Given the description of an element on the screen output the (x, y) to click on. 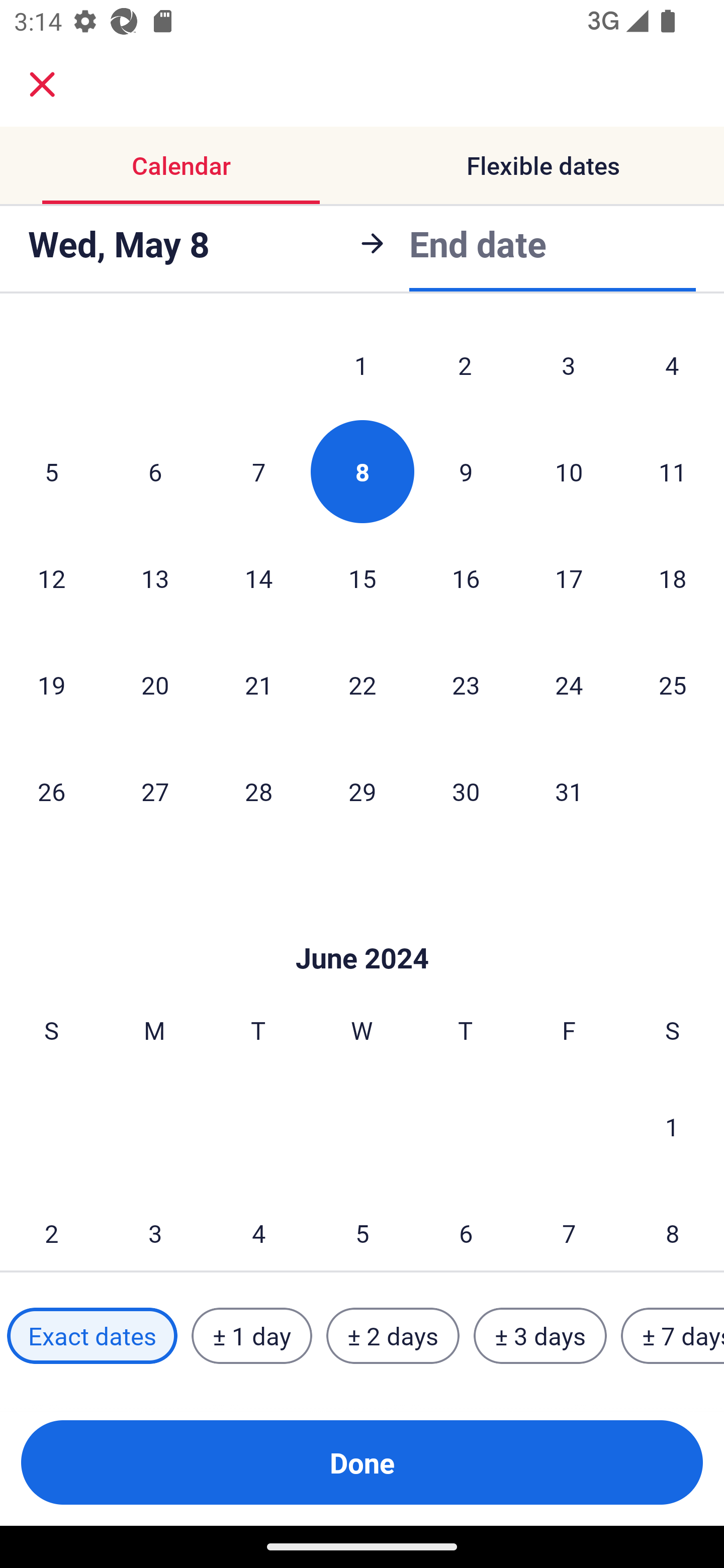
close. (42, 84)
Flexible dates (542, 164)
End date (477, 243)
1 Wednesday, May 1, 2024 (361, 369)
2 Thursday, May 2, 2024 (464, 369)
3 Friday, May 3, 2024 (568, 369)
4 Saturday, May 4, 2024 (672, 369)
5 Sunday, May 5, 2024 (51, 471)
6 Monday, May 6, 2024 (155, 471)
7 Tuesday, May 7, 2024 (258, 471)
9 Thursday, May 9, 2024 (465, 471)
10 Friday, May 10, 2024 (569, 471)
11 Saturday, May 11, 2024 (672, 471)
12 Sunday, May 12, 2024 (51, 578)
13 Monday, May 13, 2024 (155, 578)
14 Tuesday, May 14, 2024 (258, 578)
15 Wednesday, May 15, 2024 (362, 578)
16 Thursday, May 16, 2024 (465, 578)
17 Friday, May 17, 2024 (569, 578)
18 Saturday, May 18, 2024 (672, 578)
19 Sunday, May 19, 2024 (51, 684)
20 Monday, May 20, 2024 (155, 684)
21 Tuesday, May 21, 2024 (258, 684)
22 Wednesday, May 22, 2024 (362, 684)
23 Thursday, May 23, 2024 (465, 684)
24 Friday, May 24, 2024 (569, 684)
25 Saturday, May 25, 2024 (672, 684)
26 Sunday, May 26, 2024 (51, 791)
27 Monday, May 27, 2024 (155, 791)
28 Tuesday, May 28, 2024 (258, 791)
29 Wednesday, May 29, 2024 (362, 791)
30 Thursday, May 30, 2024 (465, 791)
31 Friday, May 31, 2024 (569, 791)
Skip to Done (362, 927)
1 Saturday, June 1, 2024 (672, 1126)
2 Sunday, June 2, 2024 (51, 1226)
3 Monday, June 3, 2024 (155, 1226)
4 Tuesday, June 4, 2024 (258, 1226)
5 Wednesday, June 5, 2024 (362, 1226)
6 Thursday, June 6, 2024 (465, 1226)
7 Friday, June 7, 2024 (569, 1226)
8 Saturday, June 8, 2024 (672, 1226)
Exact dates (92, 1335)
± 1 day (251, 1335)
± 2 days (392, 1335)
± 3 days (539, 1335)
± 7 days (672, 1335)
Done (361, 1462)
